Given the description of an element on the screen output the (x, y) to click on. 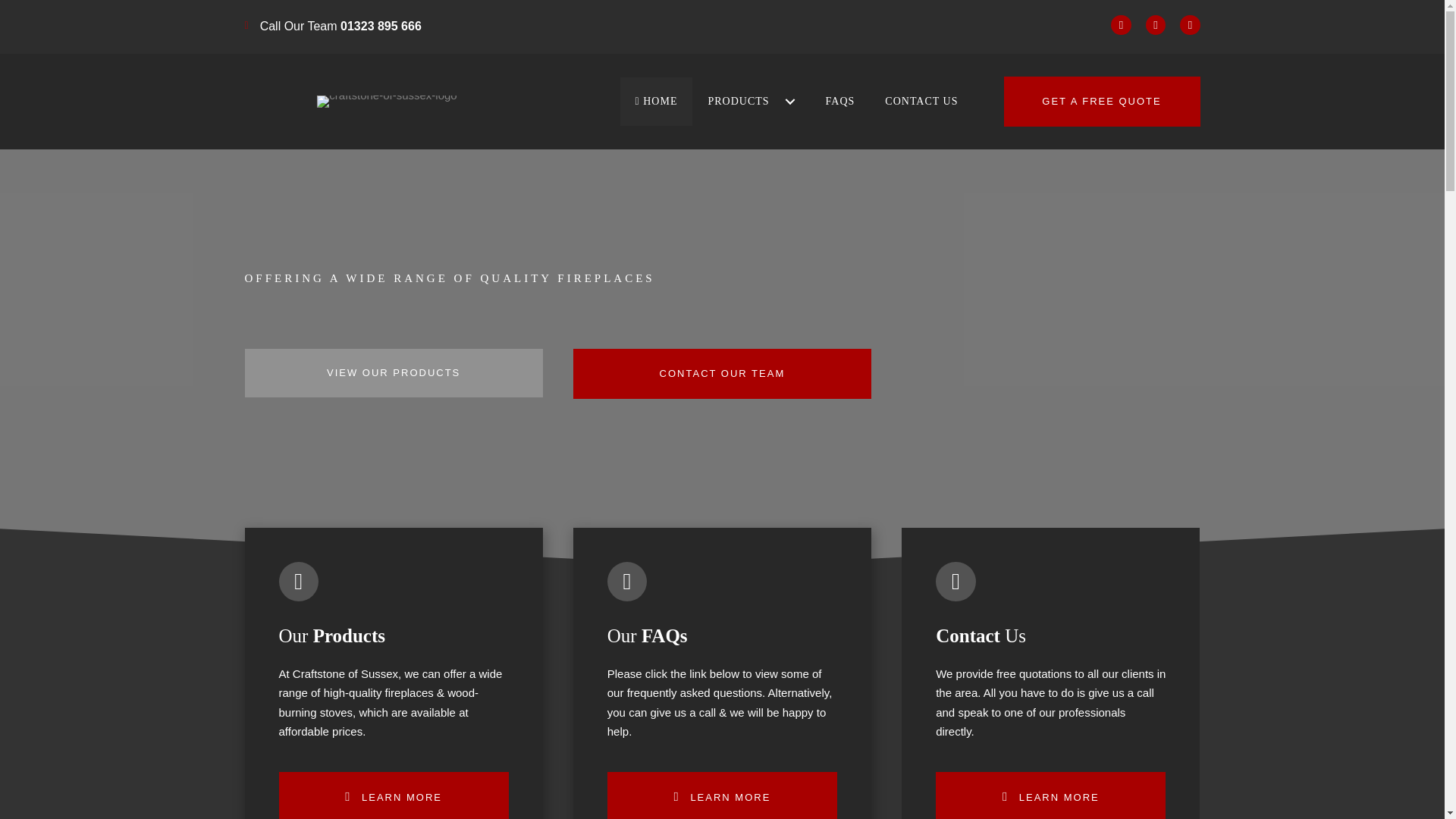
01323 895 666 (381, 25)
LEARN MORE (722, 795)
PRODUCTS (751, 101)
GET A FREE QUOTE (1101, 101)
LEARN MORE (1051, 795)
CONTACT OUR TEAM (721, 373)
VIEW OUR PRODUCTS (392, 372)
HOME (656, 101)
LEARN MORE (393, 795)
CONTACT US (920, 101)
